Given the description of an element on the screen output the (x, y) to click on. 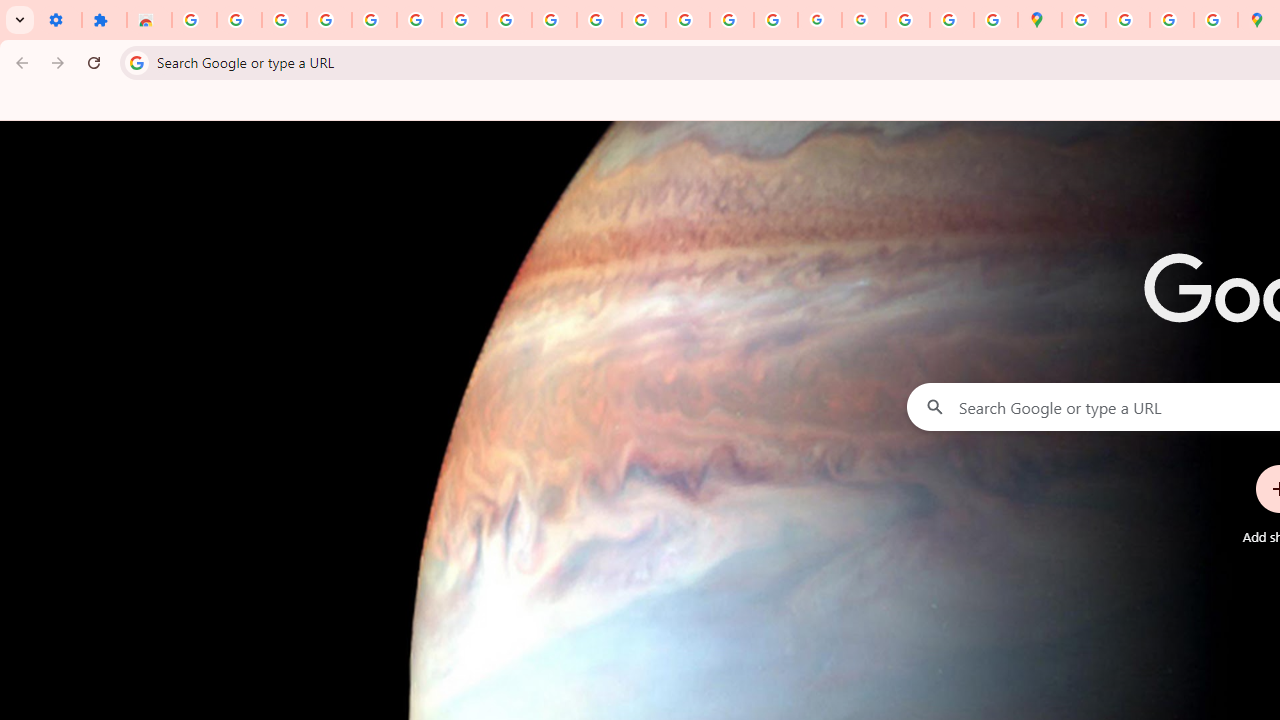
YouTube (554, 20)
Sign in - Google Accounts (194, 20)
